Given the description of an element on the screen output the (x, y) to click on. 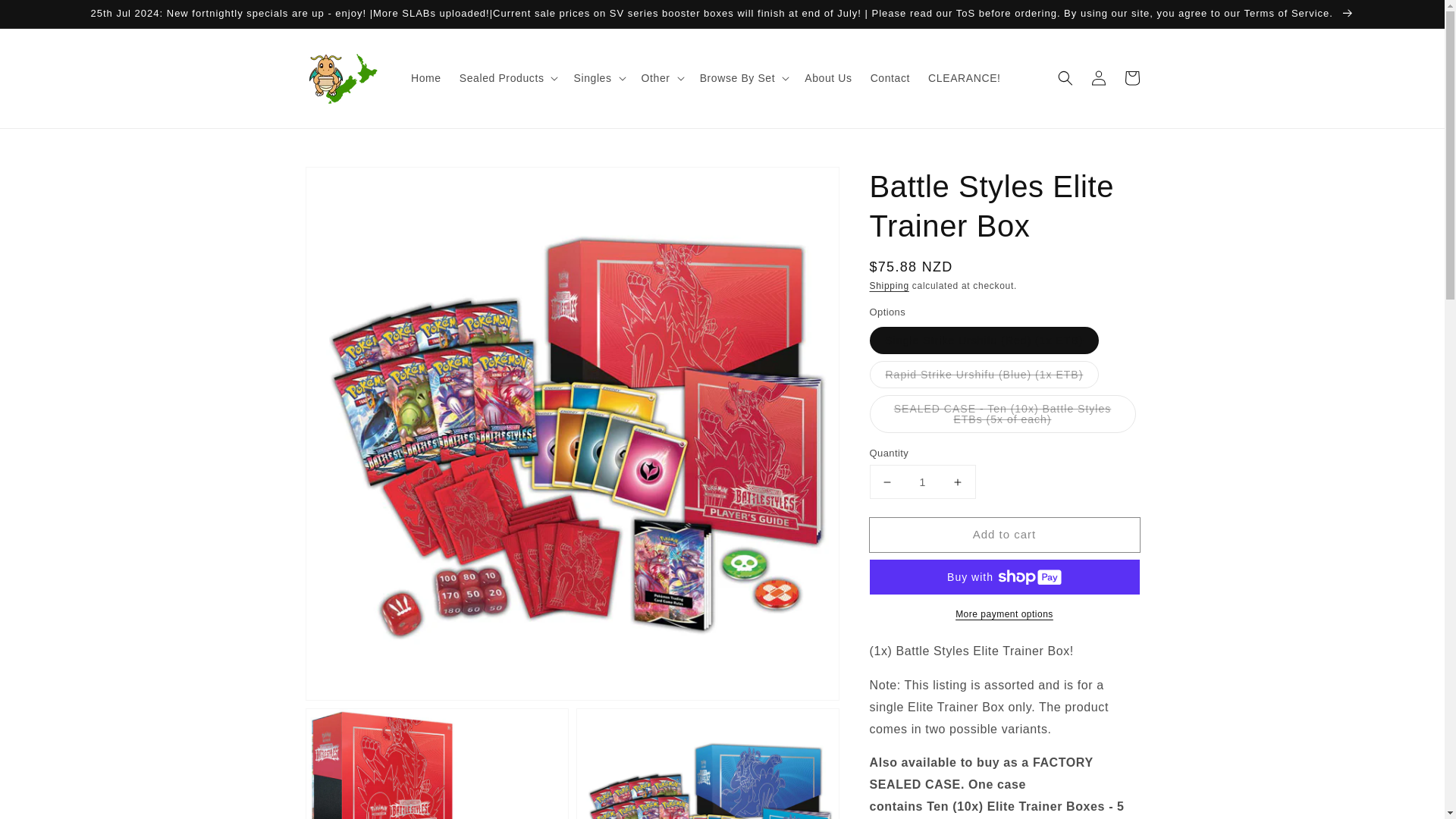
1 (922, 481)
Skip to content (45, 16)
